Given the description of an element on the screen output the (x, y) to click on. 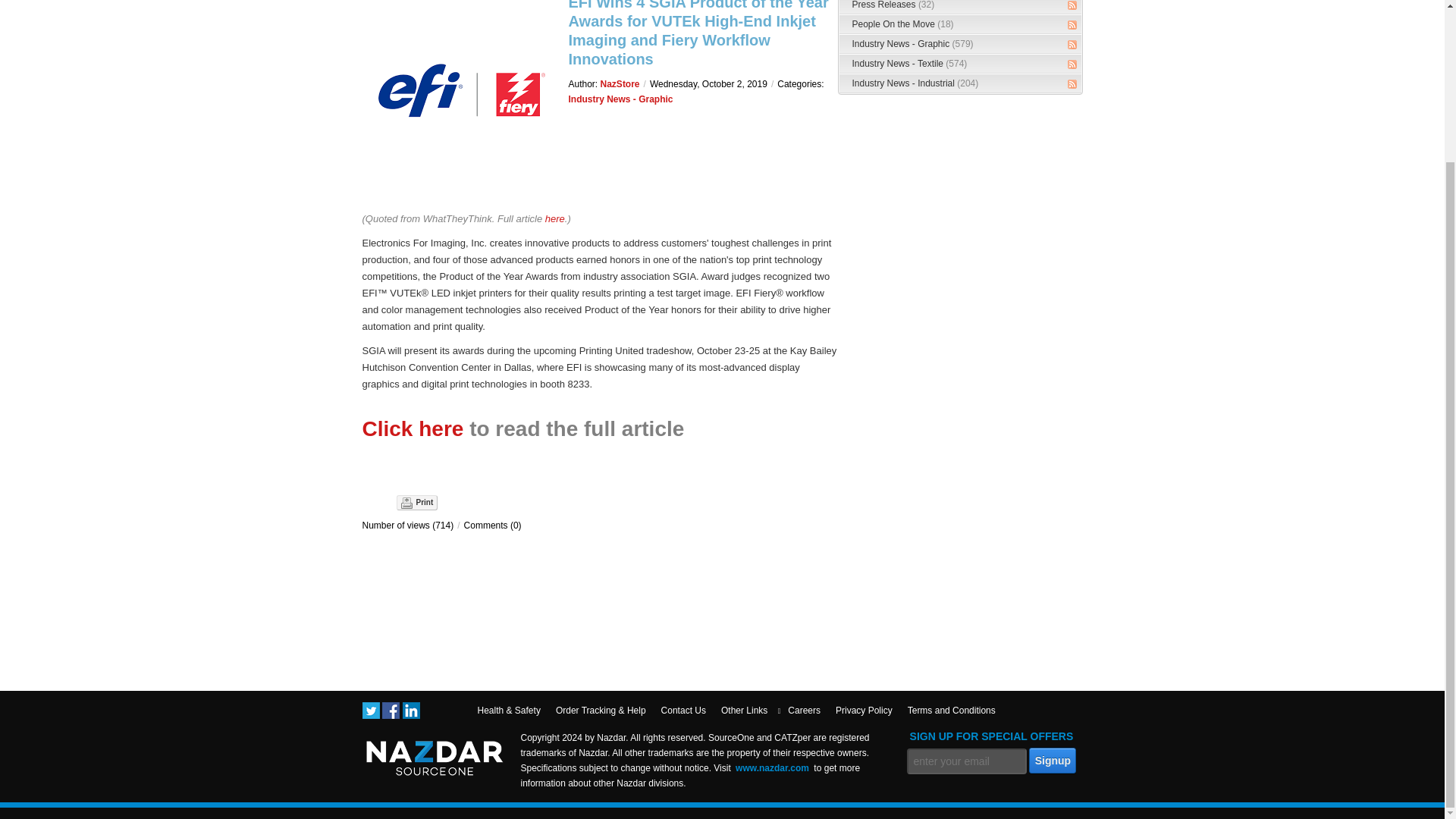
Press Releases (892, 4)
RSS (1072, 44)
RSS (1072, 63)
RSS (1072, 24)
Industry News - Graphic (912, 43)
RSS (1072, 4)
People On the Move (902, 23)
Industry News - Textile (909, 63)
